Given the description of an element on the screen output the (x, y) to click on. 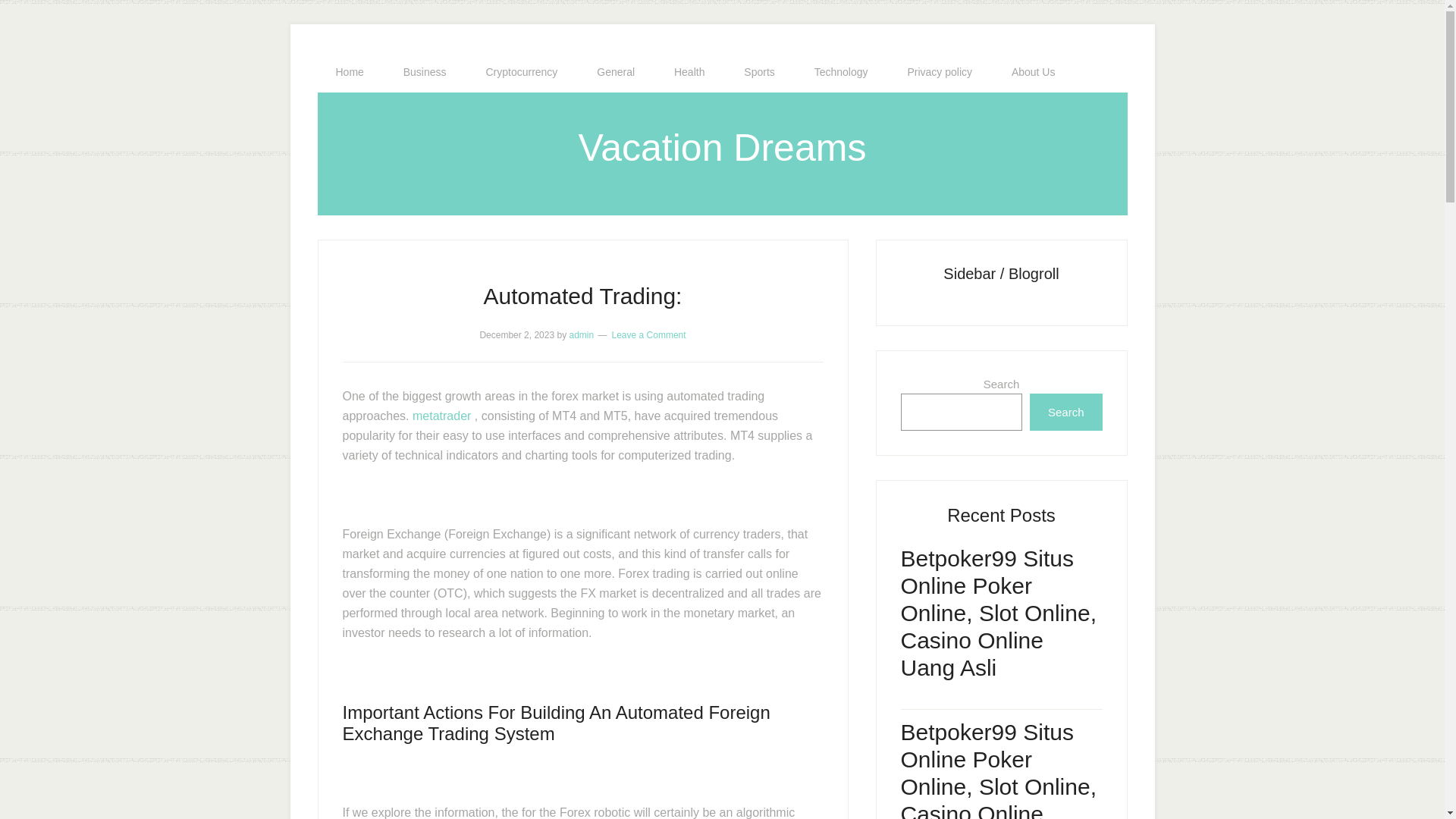
Business (424, 71)
admin (581, 335)
Technology (841, 71)
General (615, 71)
metatrader (441, 415)
About Us (1033, 71)
Vacation Dreams (722, 147)
Health (689, 71)
Leave a Comment (648, 335)
Privacy policy (939, 71)
Sports (758, 71)
Search (1065, 411)
Home (349, 71)
